Given the description of an element on the screen output the (x, y) to click on. 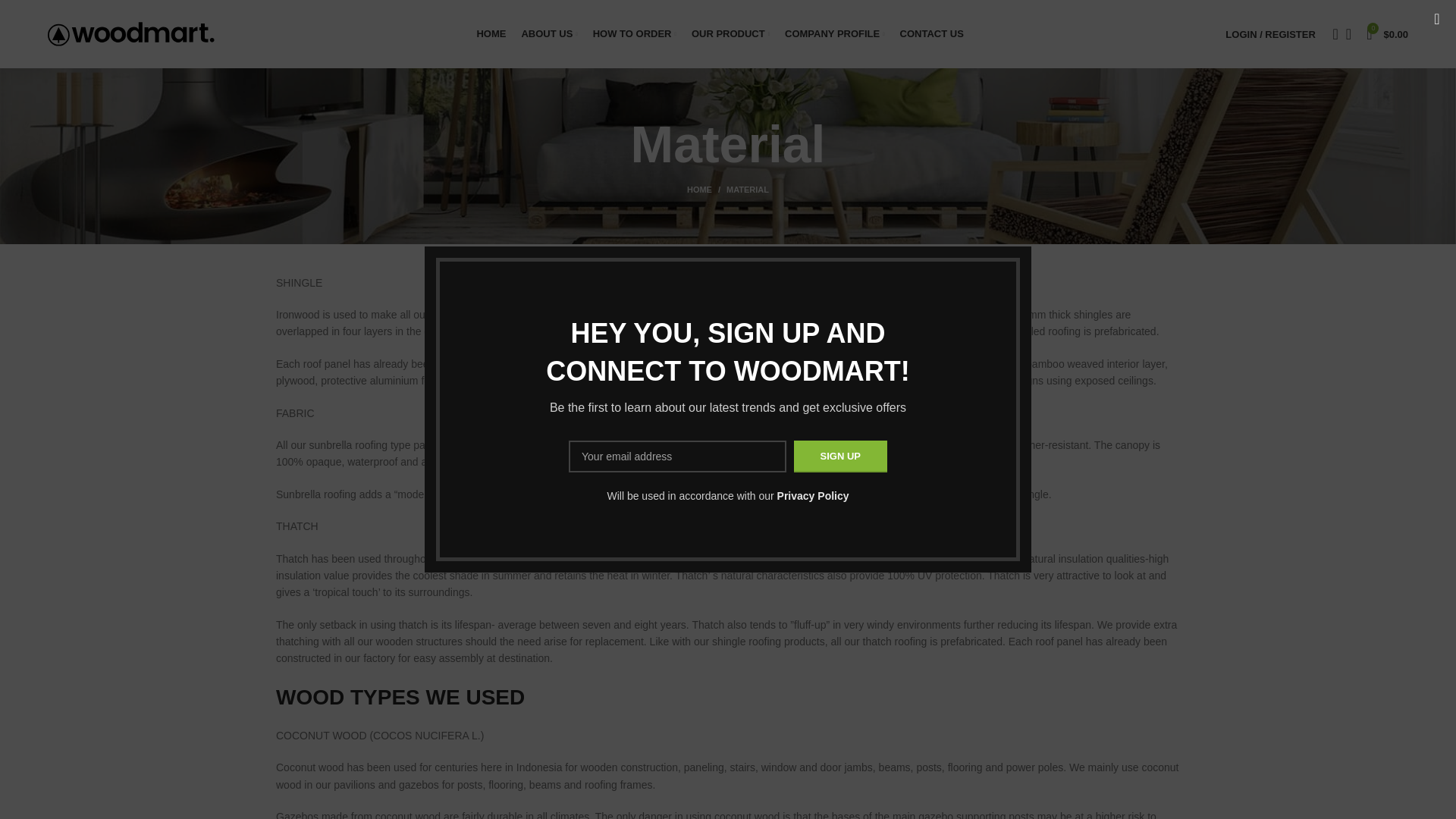
Shopping cart (1386, 33)
HOW TO ORDER (634, 33)
HOME (490, 33)
Sign up (839, 456)
My account (1269, 33)
Privacy Policy (812, 495)
ABOUT US (548, 33)
Sign up (839, 456)
OUR PRODUCT (730, 33)
